Given the description of an element on the screen output the (x, y) to click on. 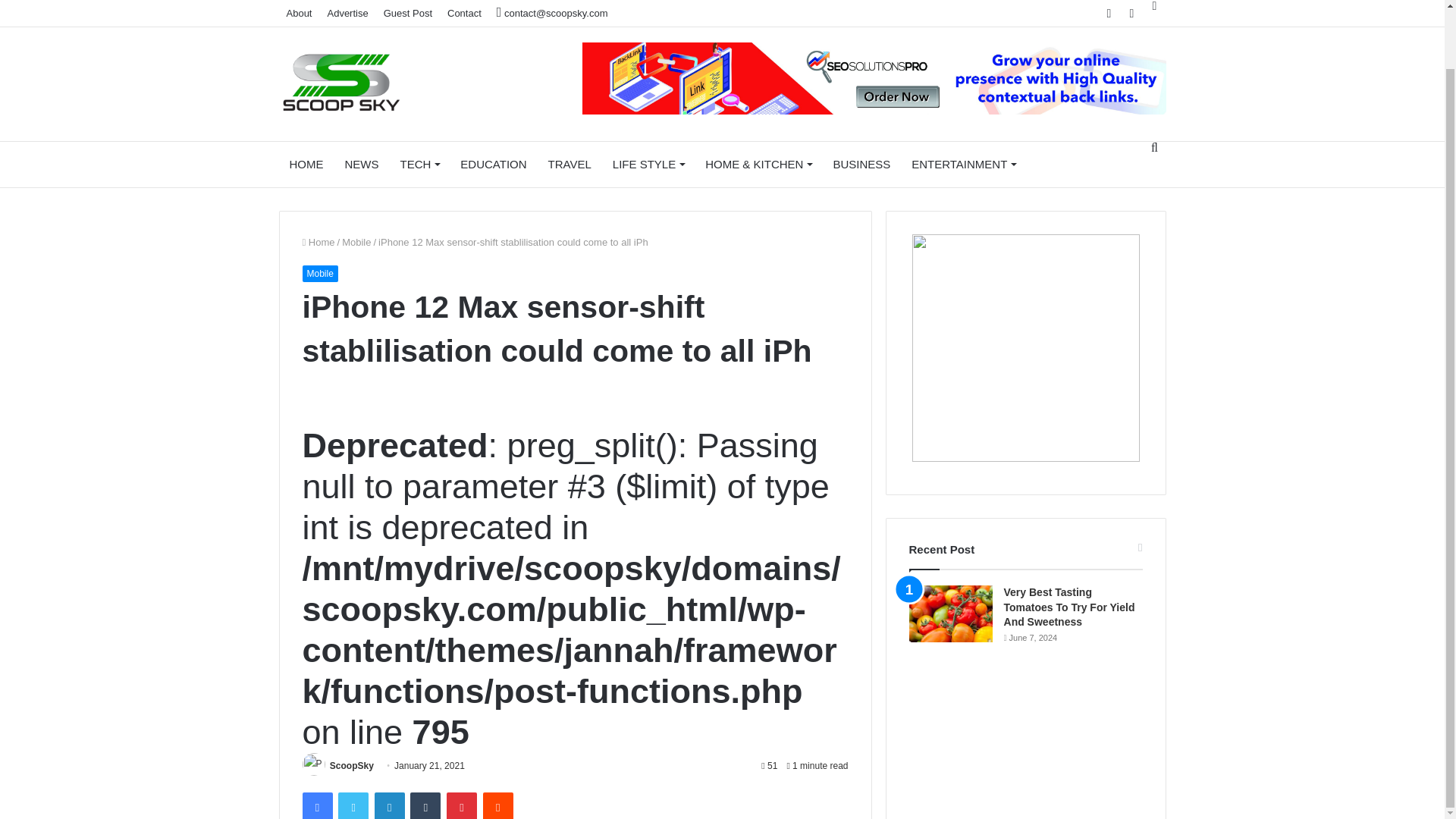
HOME (306, 164)
Sidebar (1154, 6)
NEWS (360, 164)
LIFE STYLE (648, 164)
Contact (464, 13)
BUSINESS (861, 164)
About (299, 13)
Scoopsky (341, 84)
Advertise (346, 13)
EDUCATION (493, 164)
ENTERTAINMENT (963, 164)
Guest Post (407, 13)
TECH (419, 164)
TRAVEL (569, 164)
ScoopSky (352, 765)
